Given the description of an element on the screen output the (x, y) to click on. 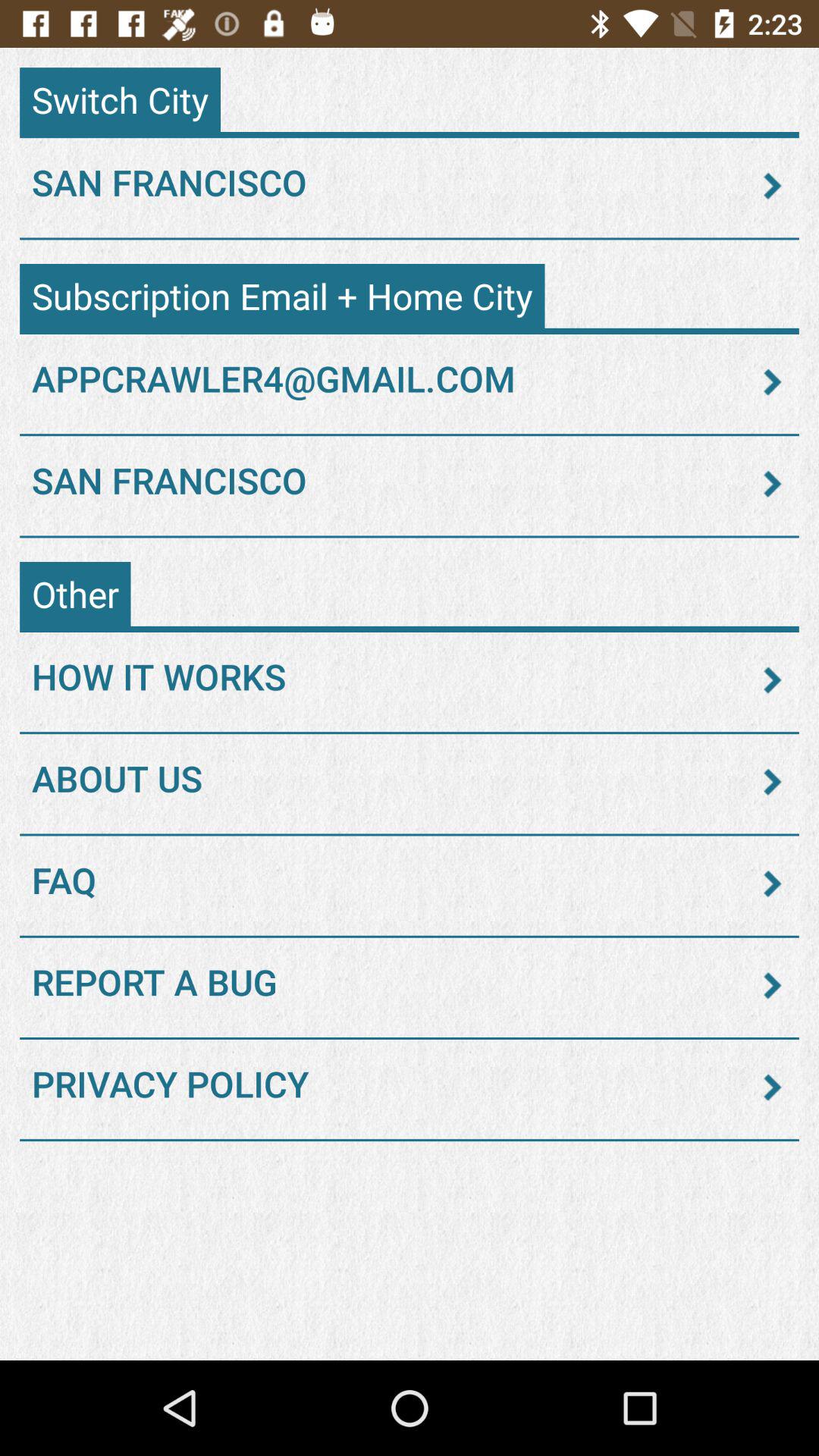
scroll to the privacy policy item (409, 1087)
